Given the description of an element on the screen output the (x, y) to click on. 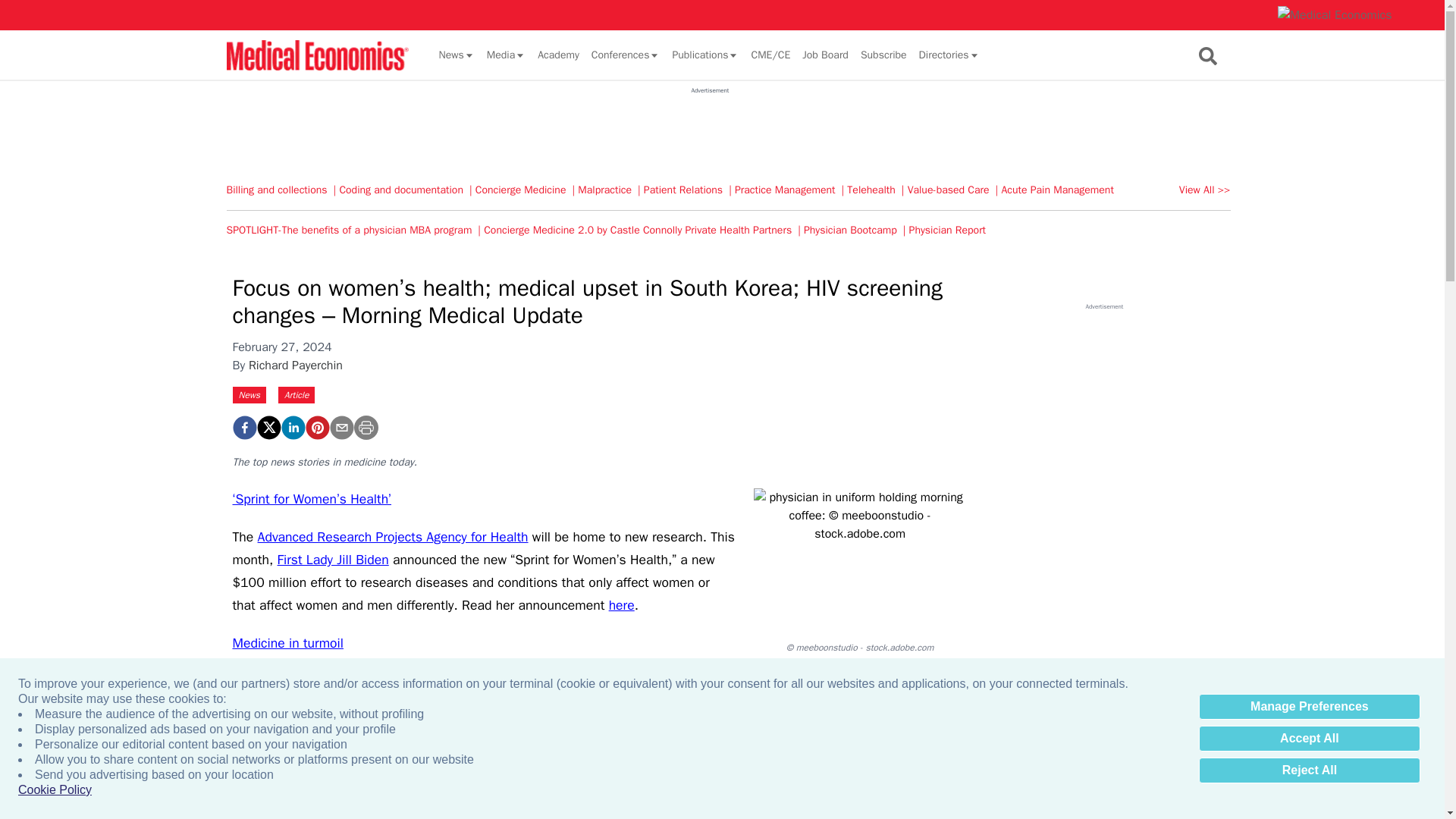
Cookie Policy (54, 789)
Manage Preferences (1309, 706)
Reject All (1309, 769)
Accept All (1309, 738)
3rd party ad content (709, 128)
Academy (558, 54)
